Given the description of an element on the screen output the (x, y) to click on. 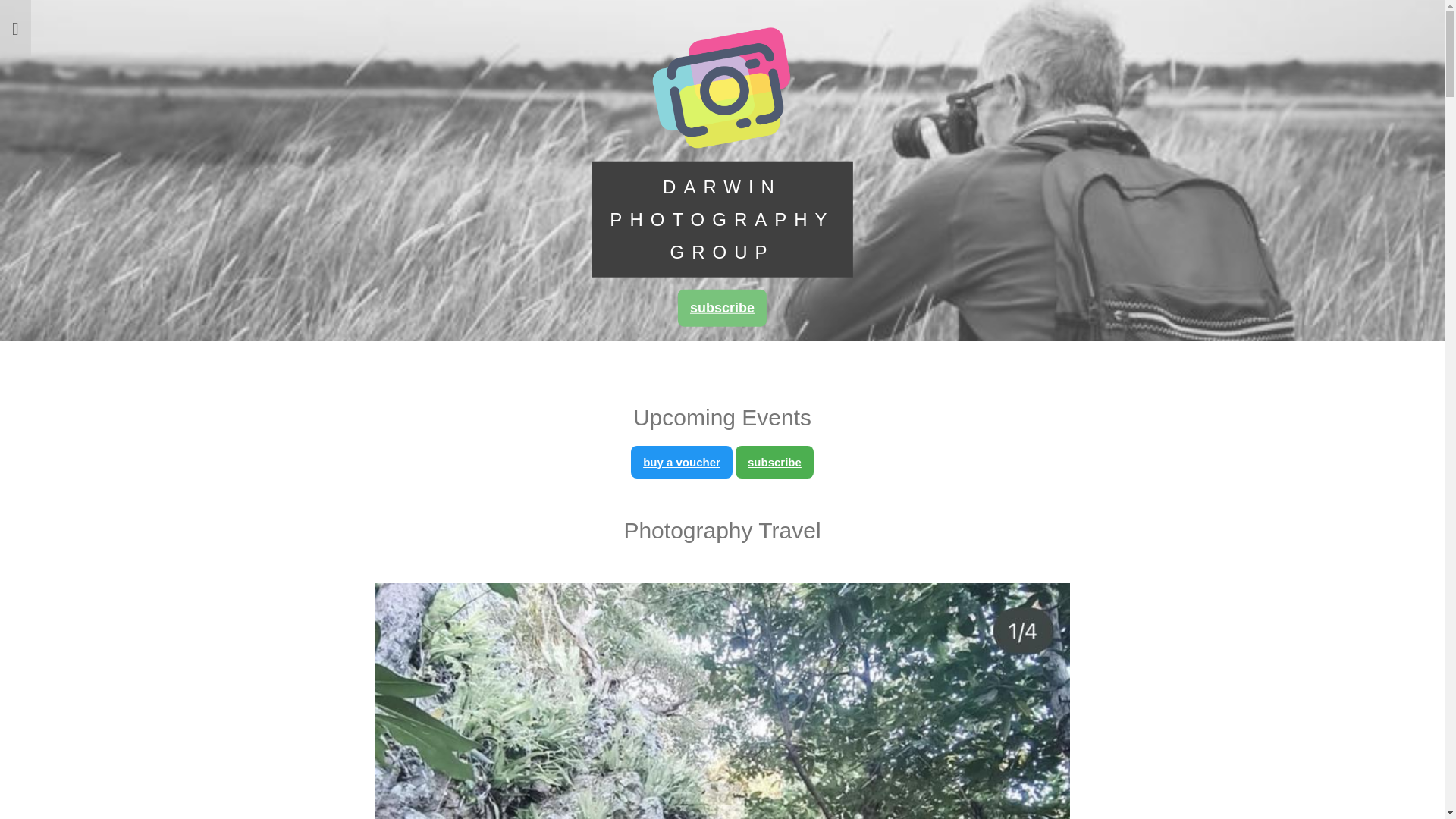
buy a voucher Element type: text (681, 461)
subscribe Element type: text (774, 461)
subscribe Element type: text (722, 307)
